Given the description of an element on the screen output the (x, y) to click on. 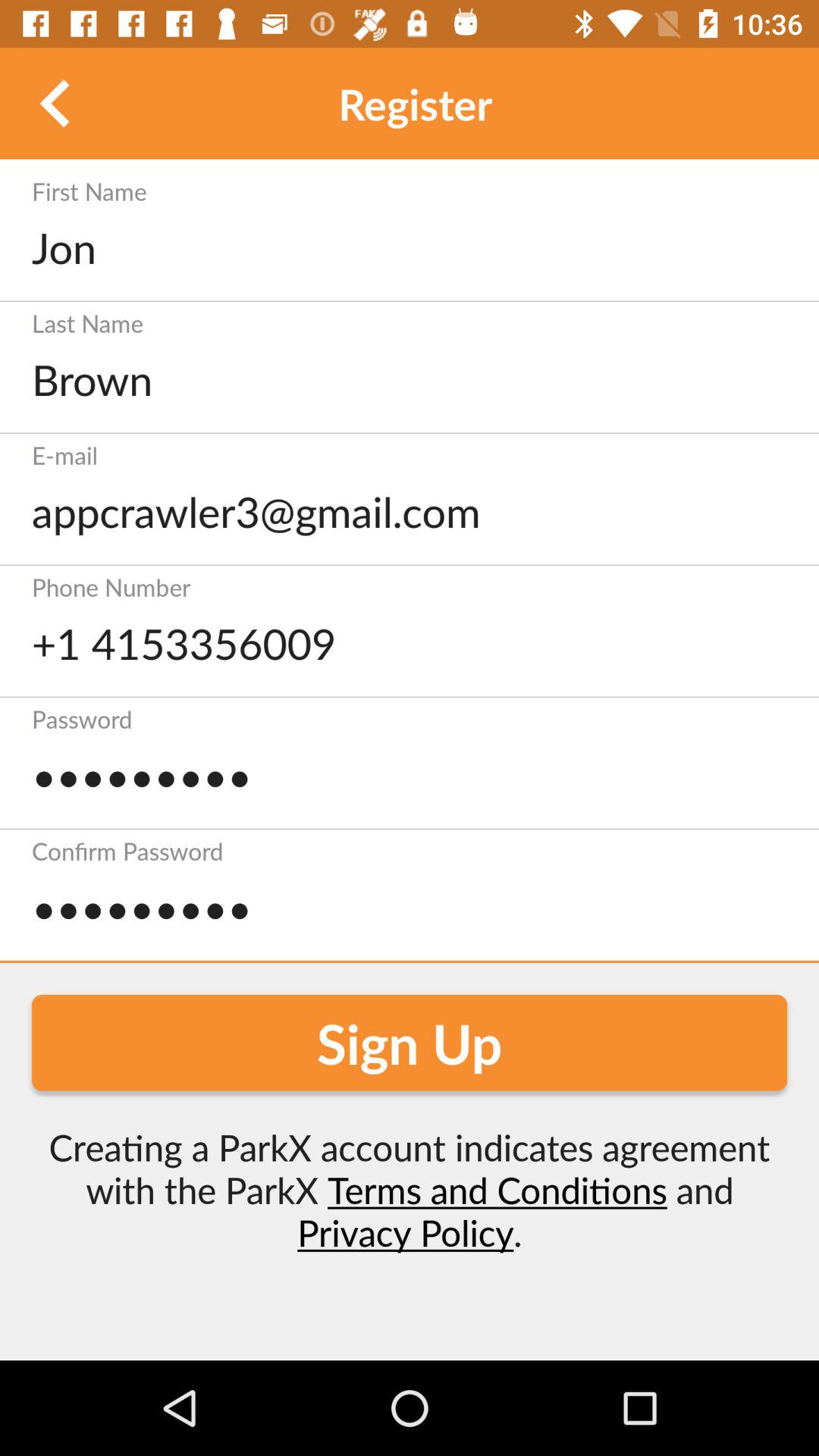
for ward (55, 103)
